Given the description of an element on the screen output the (x, y) to click on. 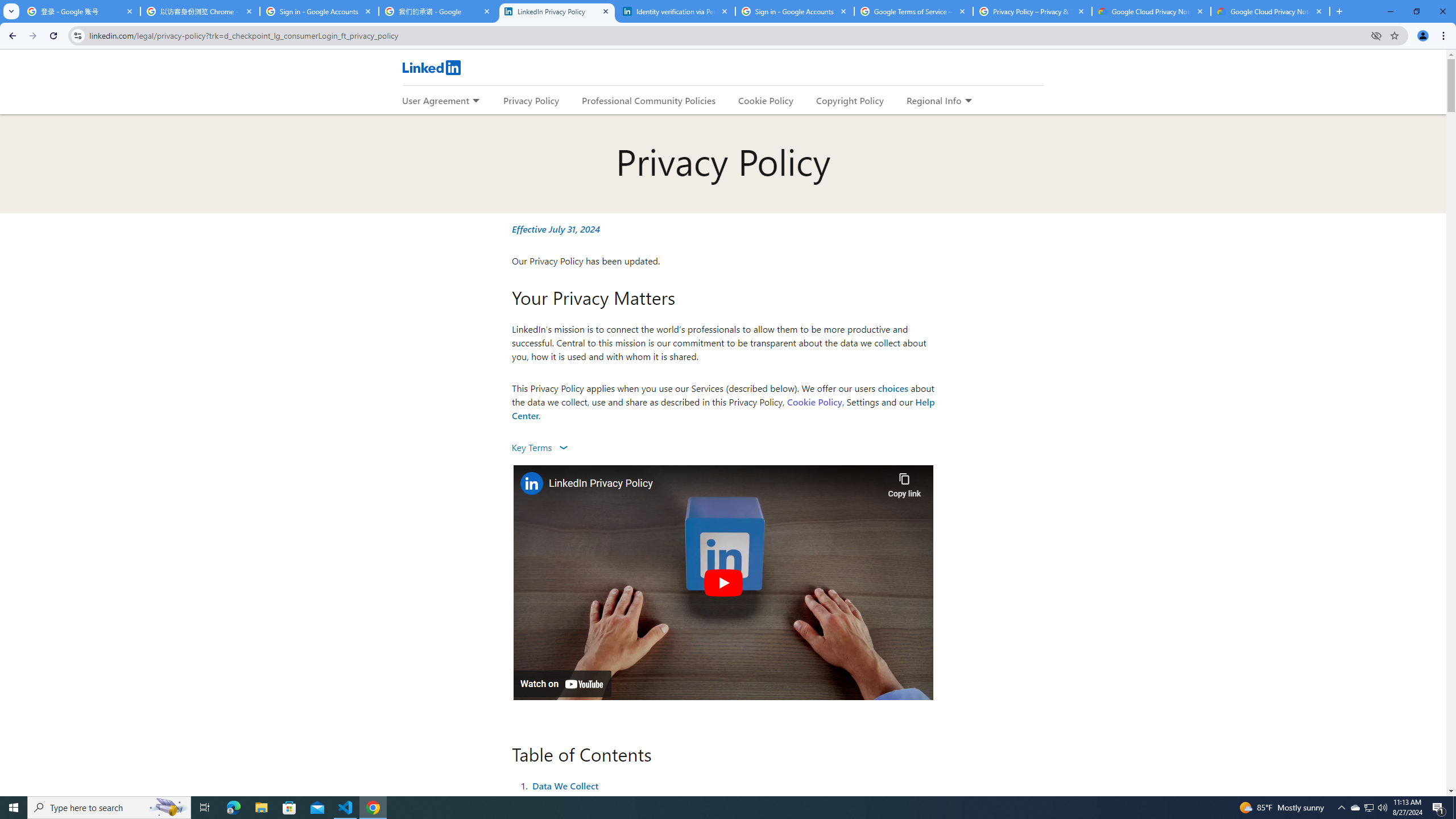
Google Cloud Privacy Notice (1150, 11)
Data We Collect (565, 784)
Play (722, 582)
Expand to show more links for Regional Info (967, 101)
LinkedIn Logo (430, 67)
Copy link (904, 482)
Google Cloud Privacy Notice (1270, 11)
LinkedIn Privacy Policy (556, 11)
